Given the description of an element on the screen output the (x, y) to click on. 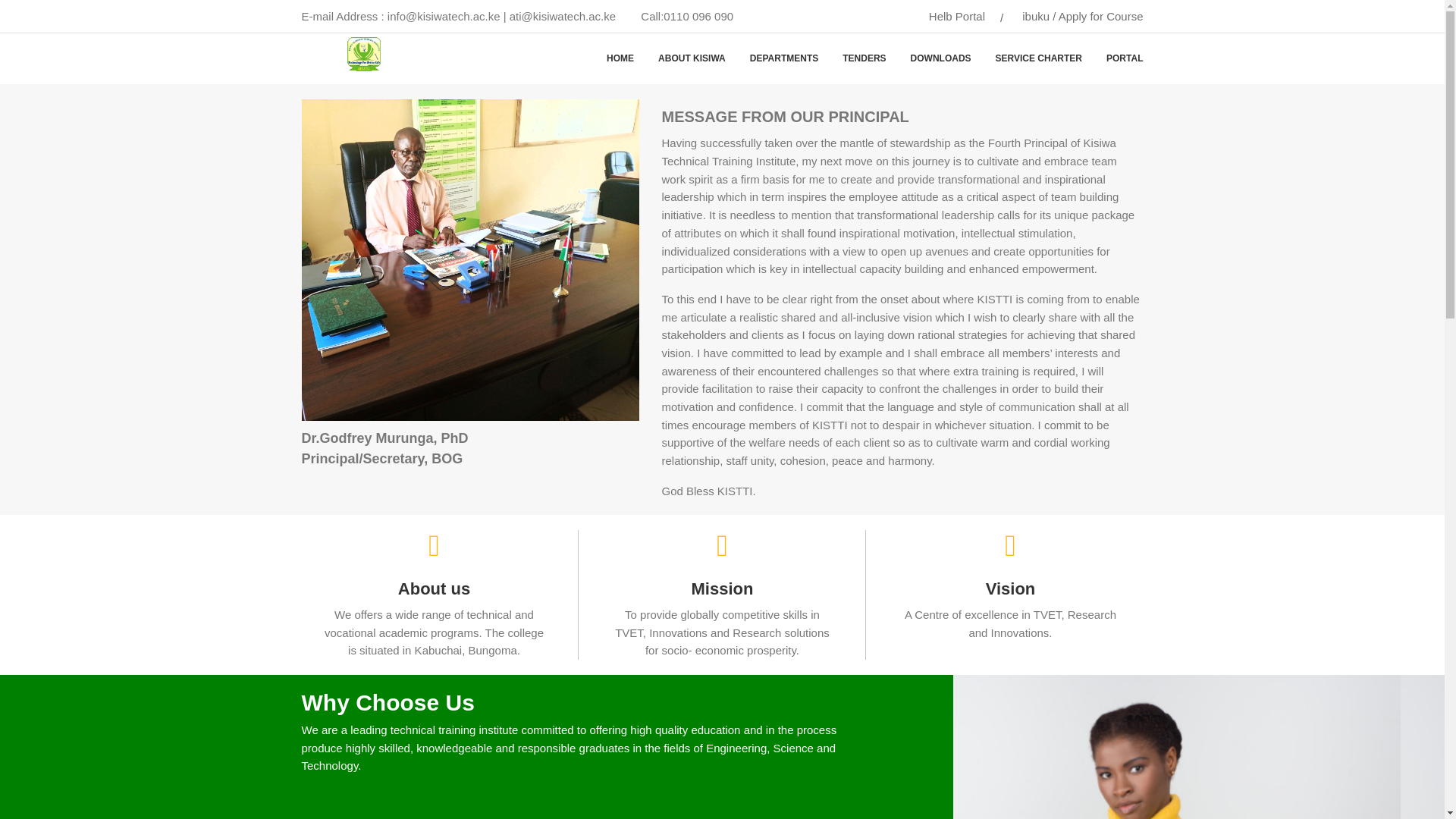
DEPARTMENTS (783, 59)
TENDERS (863, 59)
PORTAL (1118, 59)
SERVICE CHARTER (1039, 59)
Helb Portal (956, 15)
DOWNLOADS (941, 59)
ABOUT KISIWA (692, 59)
Apply for Course (1100, 15)
HOME (620, 59)
